Given the description of an element on the screen output the (x, y) to click on. 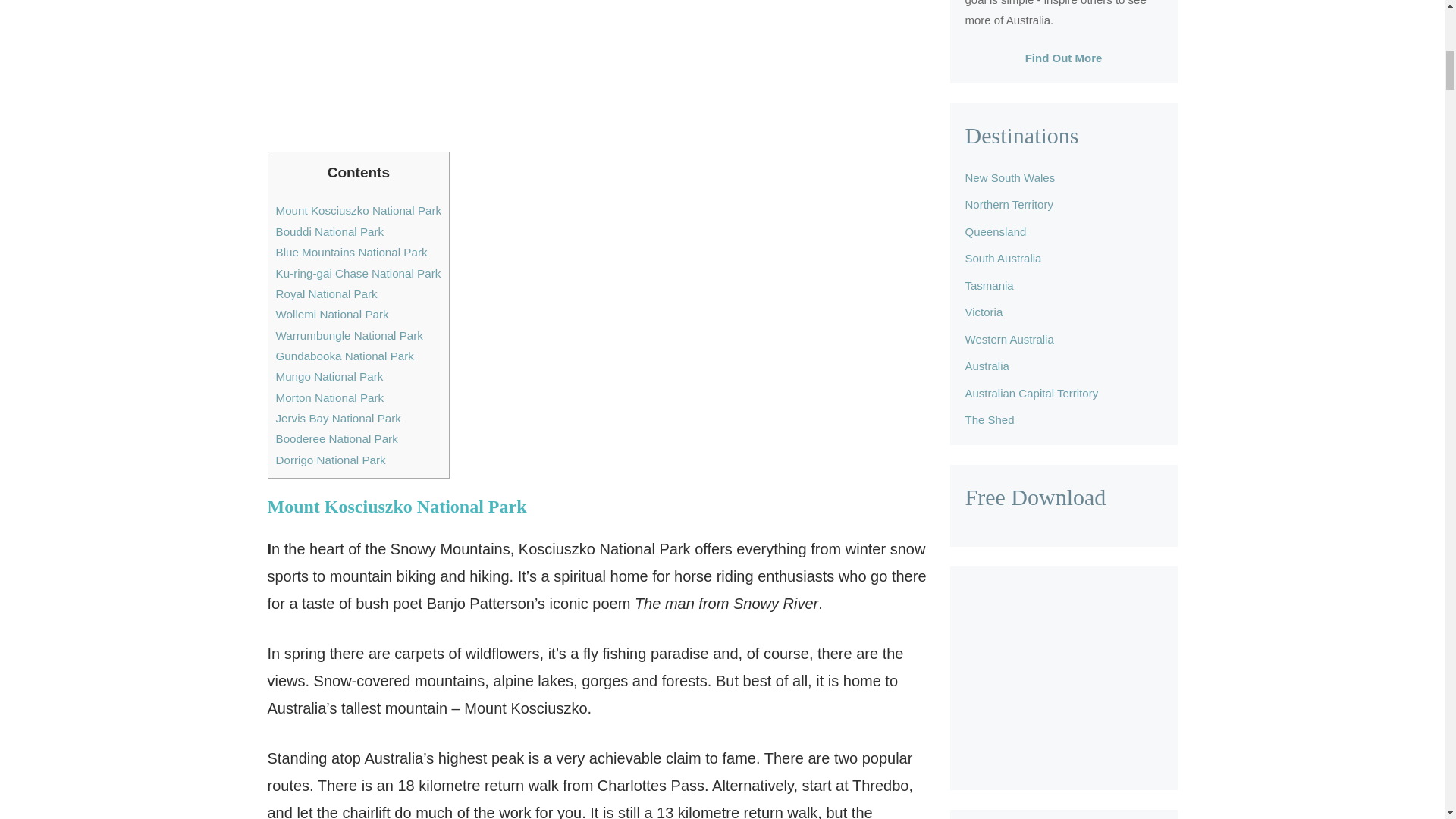
Scroll back to top (1406, 720)
